Given the description of an element on the screen output the (x, y) to click on. 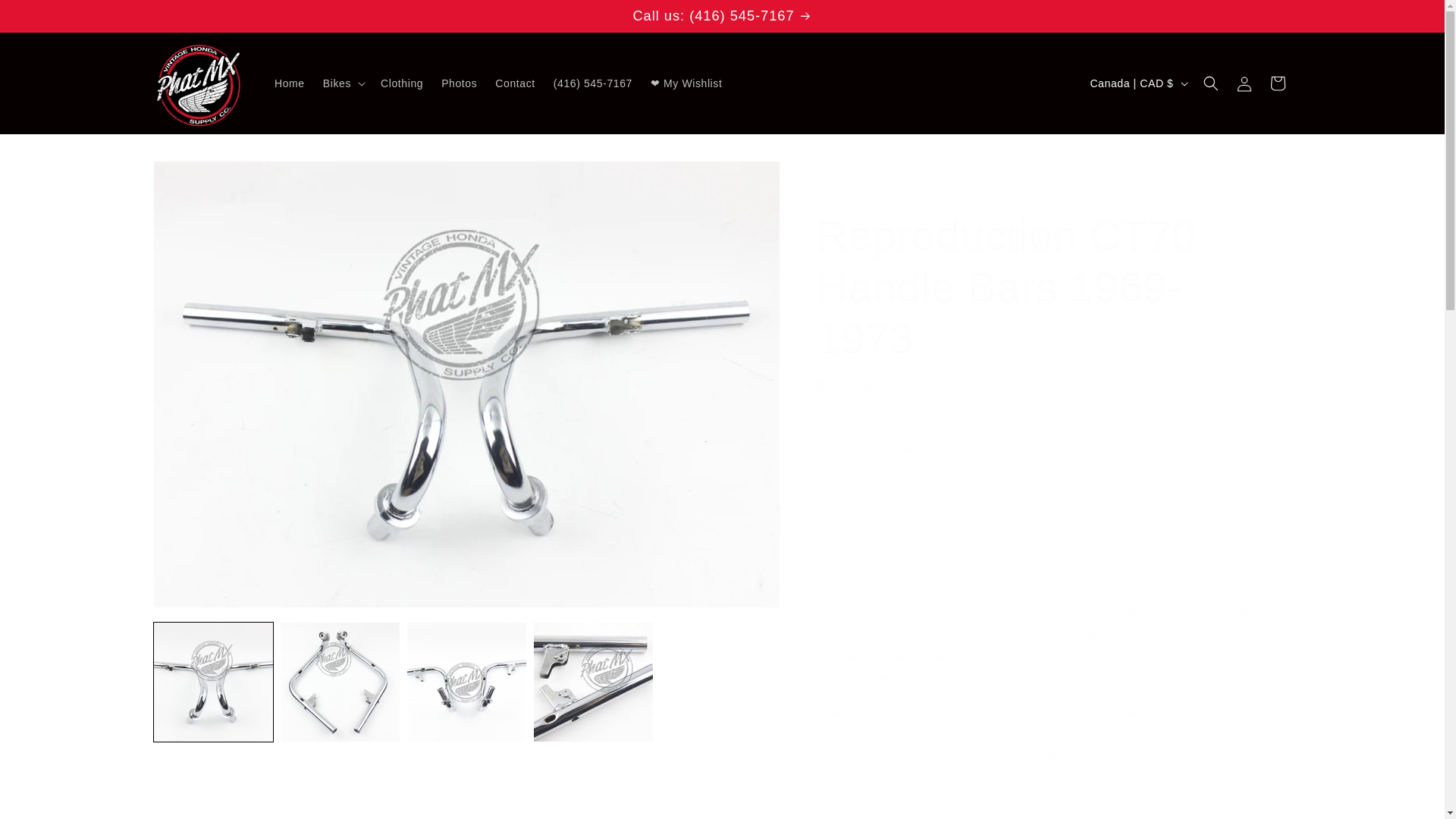
1 (870, 448)
Skip to content (45, 17)
